Given the description of an element on the screen output the (x, y) to click on. 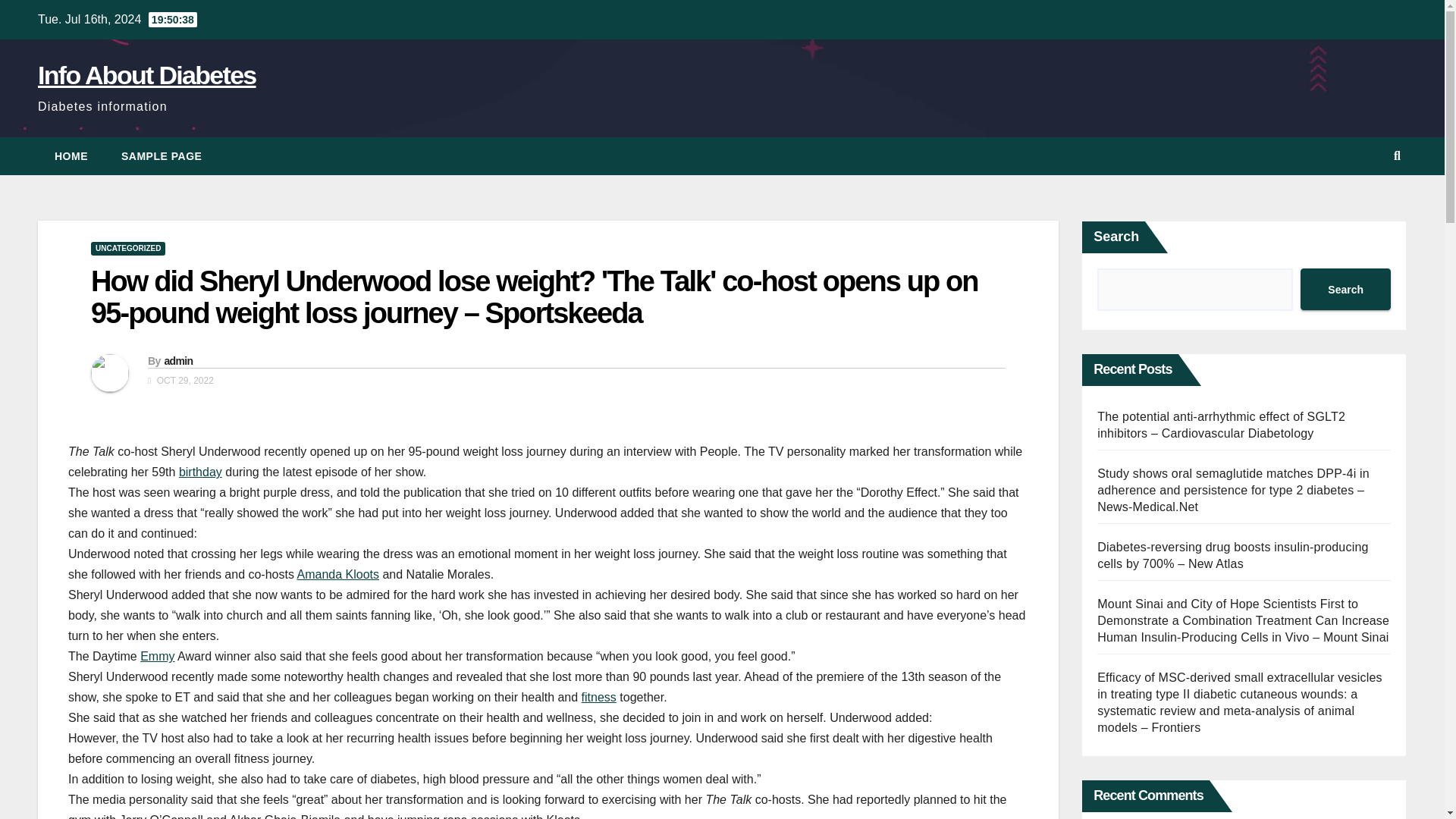
UNCATEGORIZED (127, 248)
Emmy (156, 656)
Home (70, 156)
birthday (200, 472)
Info About Diabetes (146, 74)
SAMPLE PAGE (161, 156)
Amanda Kloots (338, 574)
fitness (597, 697)
admin (177, 360)
HOME (70, 156)
